Given the description of an element on the screen output the (x, y) to click on. 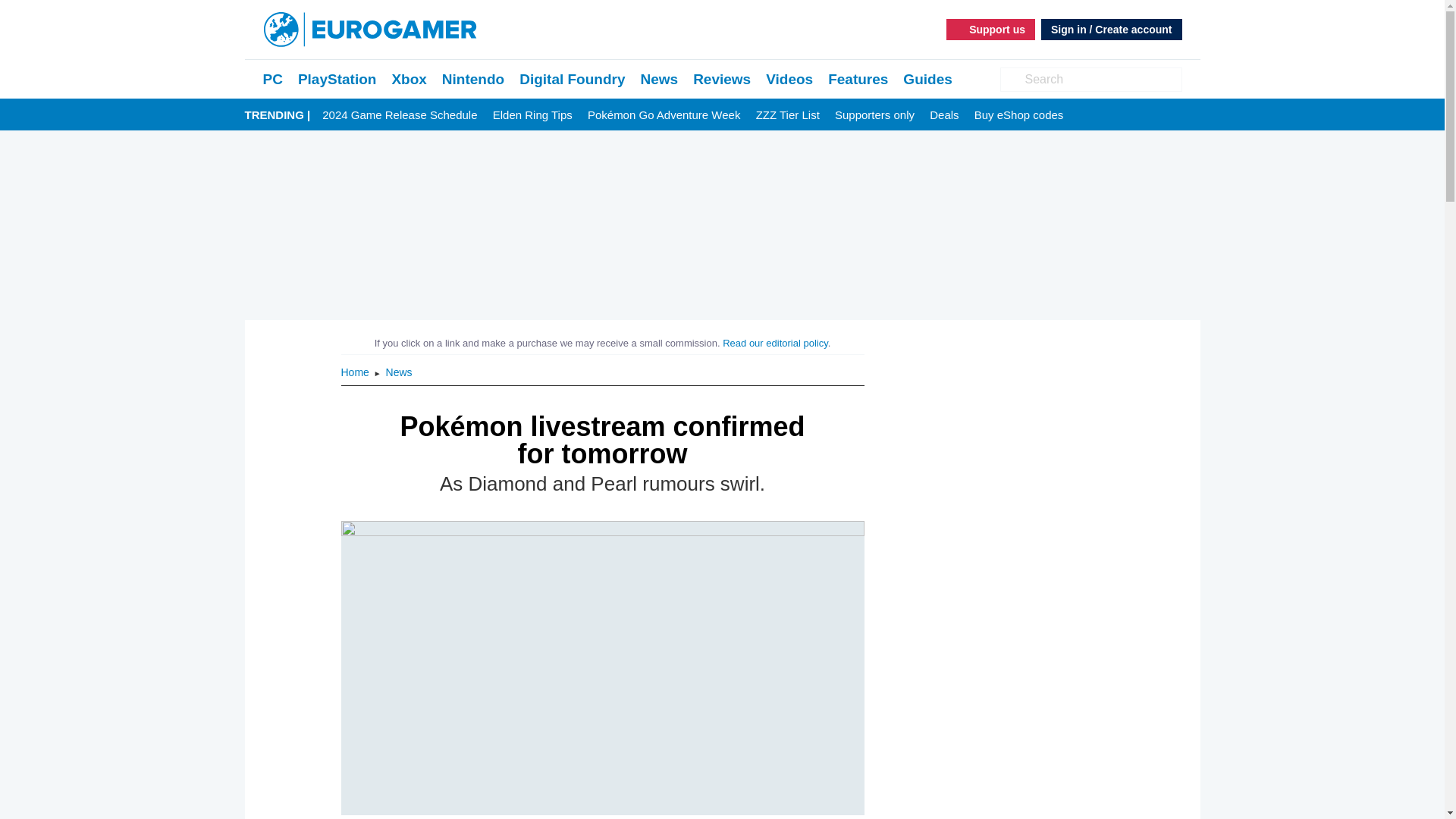
ZZZ Tier List (787, 114)
Deals (944, 114)
Nintendo (472, 78)
Home (356, 372)
Videos (788, 78)
Xbox (408, 78)
Elden Ring Tips (532, 114)
Guides (927, 78)
Home (356, 372)
PlayStation (336, 78)
Reviews (722, 78)
ZZZ Tier List (787, 114)
Read our editorial policy (775, 342)
Features (858, 78)
Reviews (722, 78)
